Given the description of an element on the screen output the (x, y) to click on. 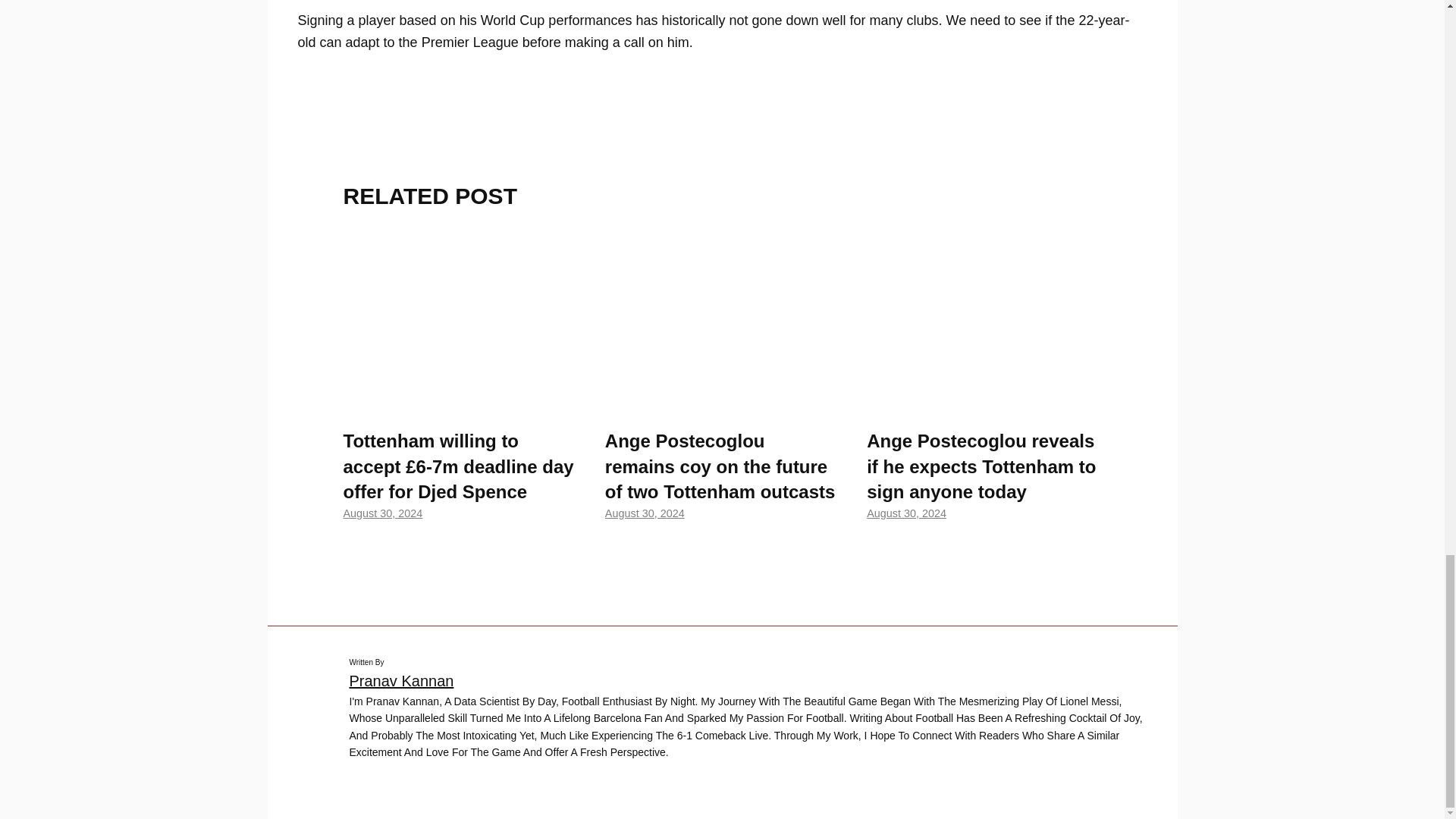
7:57 pm (644, 512)
6:19 pm (906, 512)
10:42 pm (382, 512)
